Given the description of an element on the screen output the (x, y) to click on. 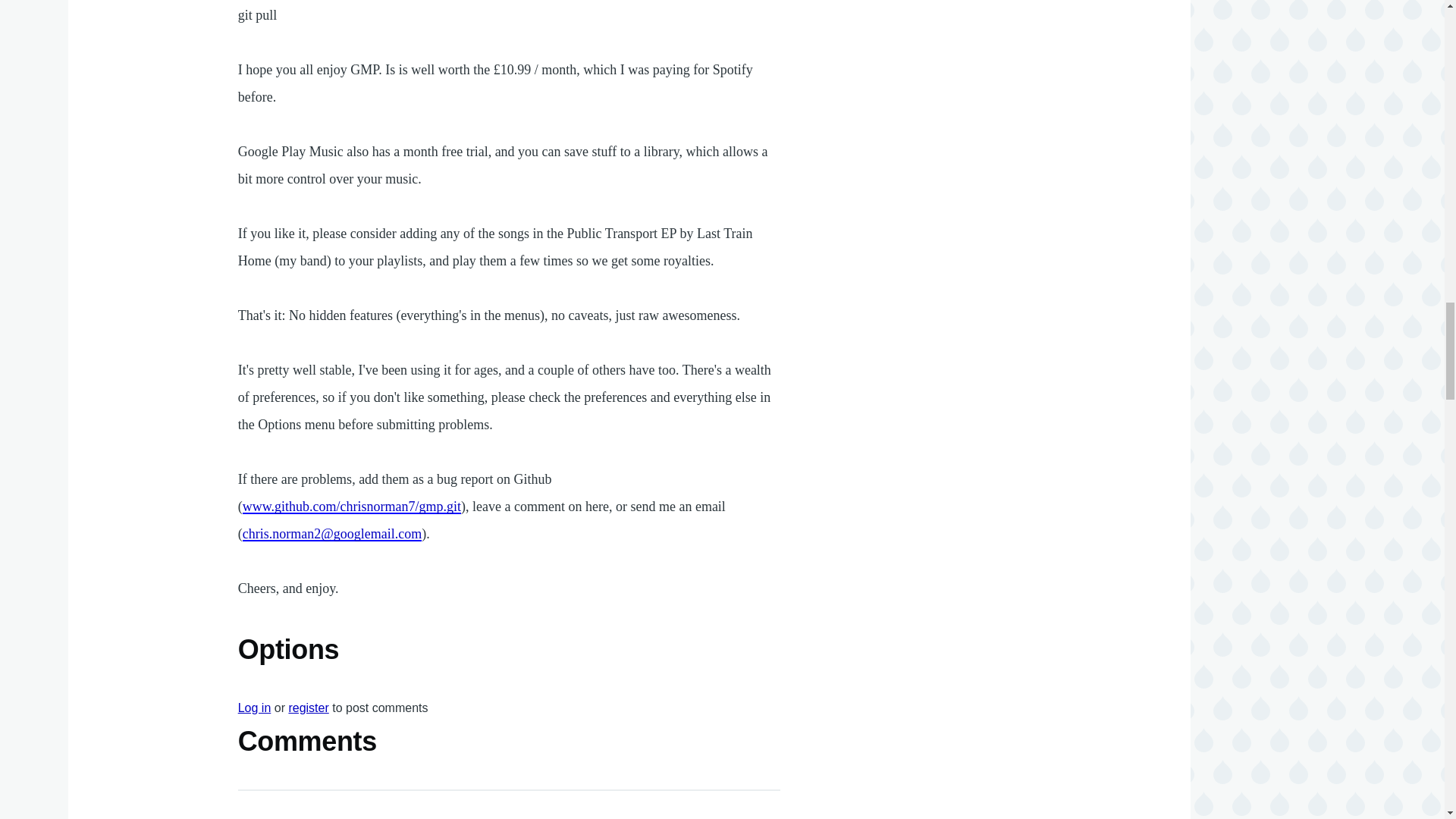
Log in (254, 707)
register (308, 707)
